Given the description of an element on the screen output the (x, y) to click on. 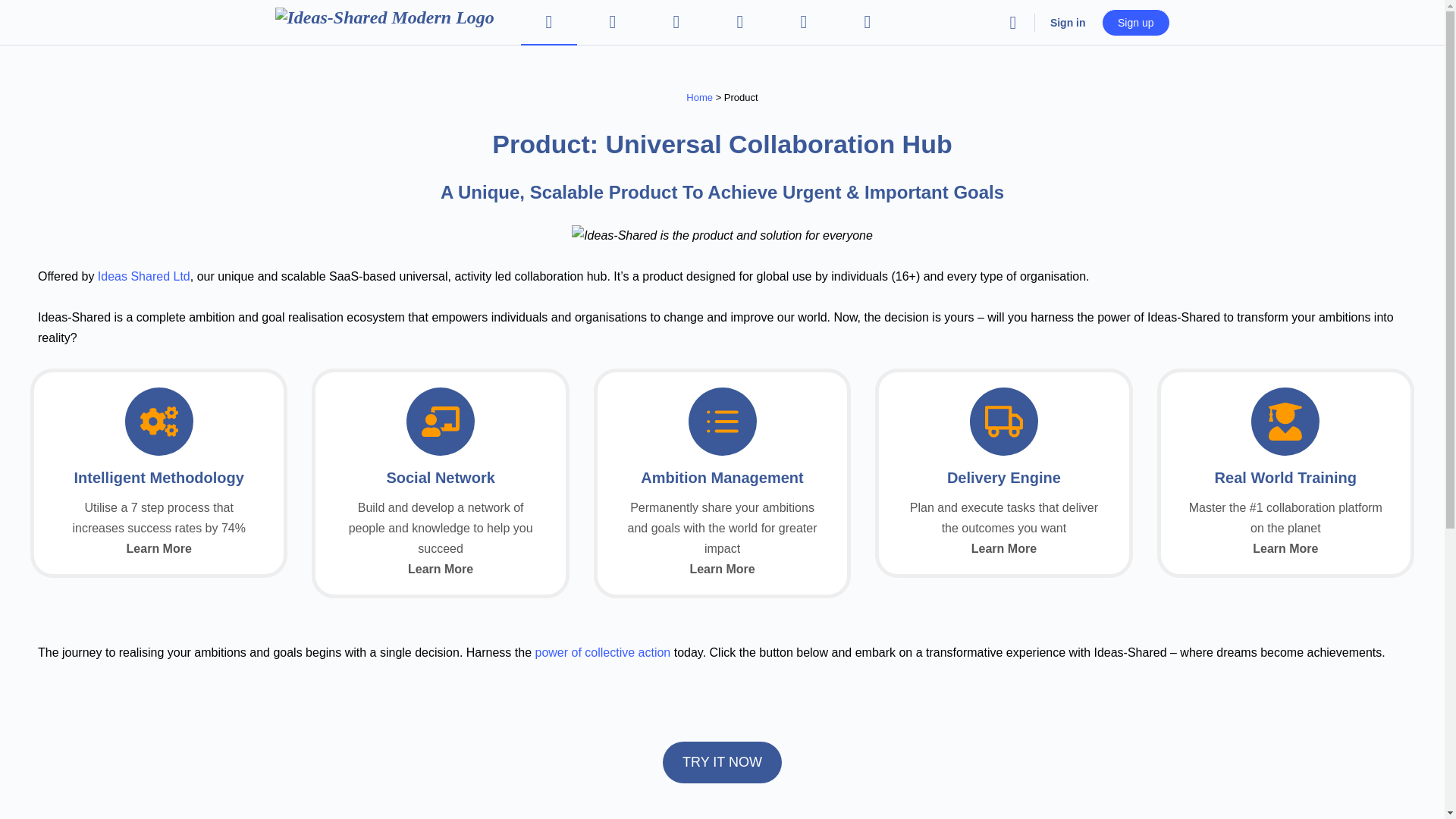
Sign in (1067, 22)
Product (722, 235)
Sign up (1135, 22)
Product (722, 702)
